Given the description of an element on the screen output the (x, y) to click on. 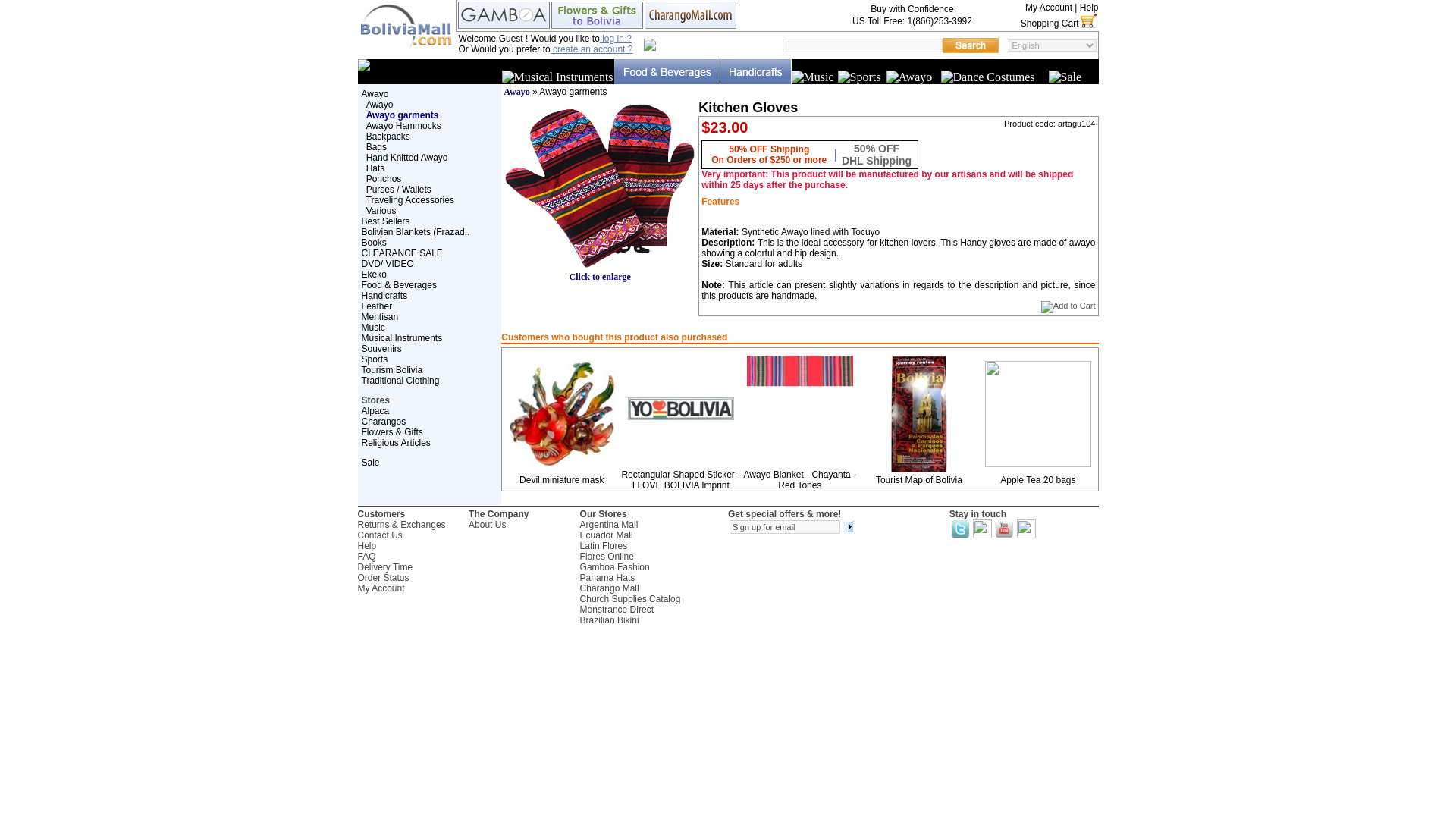
Ponchos (383, 178)
create an account ? (591, 49)
 Sale  (1064, 77)
Awayo (379, 104)
Awayo (374, 93)
My Account (1048, 7)
Awayo Hammocks (403, 125)
Hats (375, 167)
Leather (376, 306)
 Awayo  (908, 77)
